Given the description of an element on the screen output the (x, y) to click on. 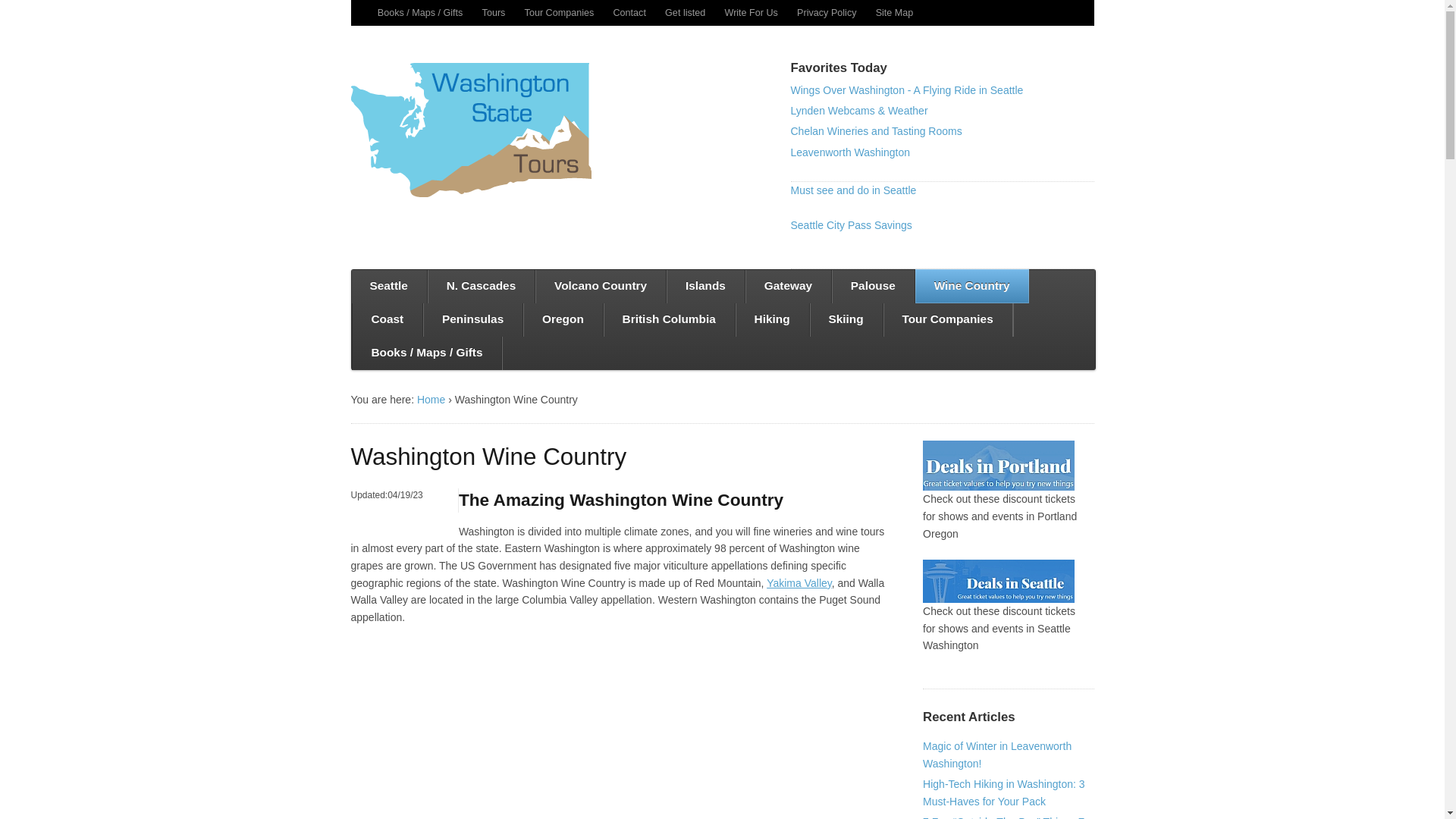
Seattle (388, 286)
Site Map (894, 12)
Write For Us (750, 12)
Wings Over Washington - A Flying Ride in Seattle (906, 90)
Tours (493, 12)
Tour Companies (559, 12)
Contact (630, 12)
Privacy Policy (826, 12)
Washington State Tours (430, 399)
Seattle City Pass Savings (850, 224)
Providing travel ideas for visitors to Washington State (470, 130)
Chelan Wineries and Tasting Rooms (875, 131)
Must see and do in Seattle (852, 190)
Get listed (684, 12)
Leavenworth Washington (849, 151)
